Given the description of an element on the screen output the (x, y) to click on. 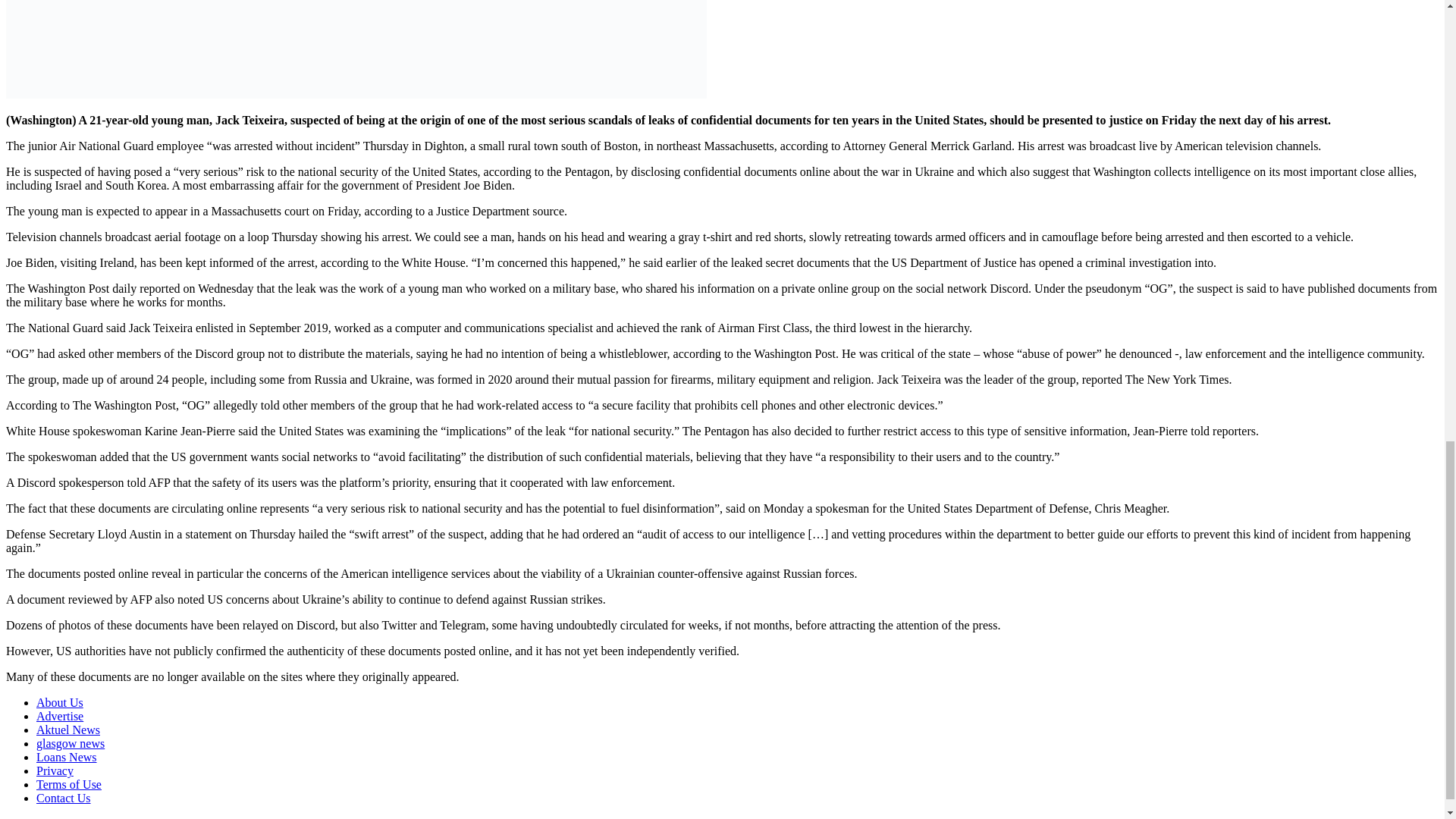
Terms of Use (68, 784)
Contact Us (63, 797)
Privacy (55, 770)
Advertise (59, 716)
resim-869 (355, 49)
About Us (59, 702)
glasgow news (70, 743)
Loans News (66, 757)
Aktuel News (68, 729)
